Given the description of an element on the screen output the (x, y) to click on. 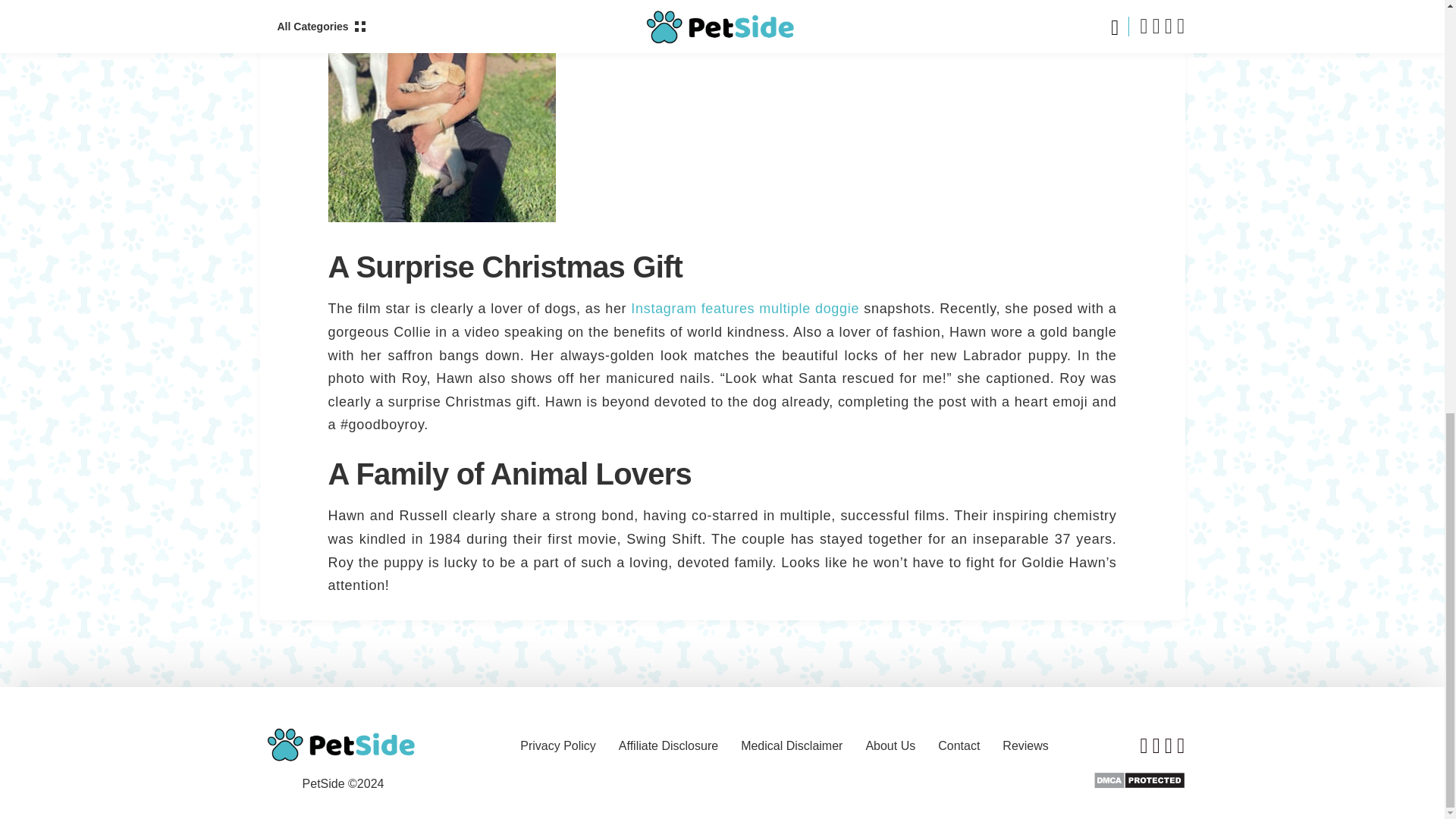
DMCA.com Protection Status (1139, 780)
